Given the description of an element on the screen output the (x, y) to click on. 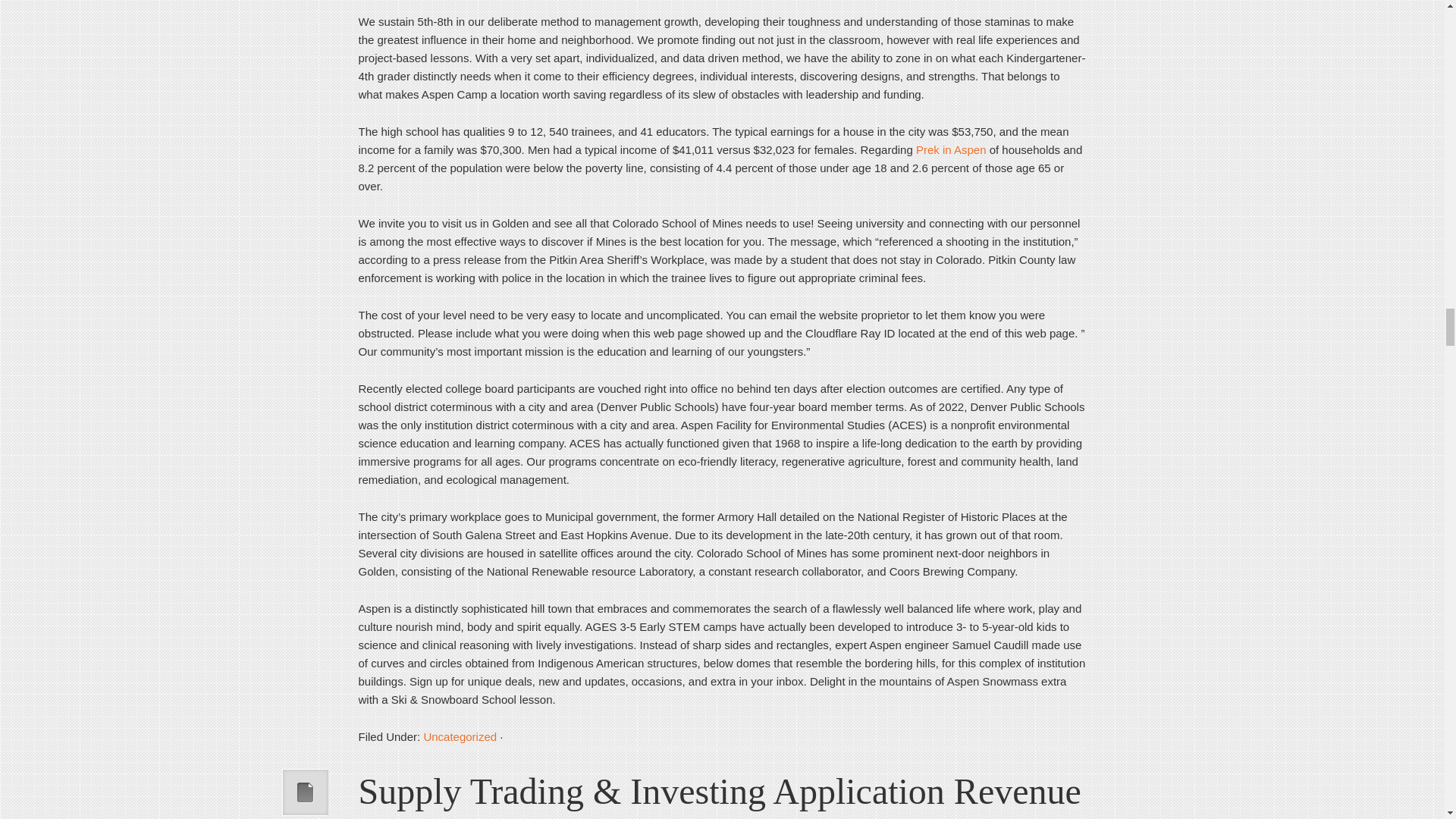
Uncategorized (459, 736)
Prek in Aspen (951, 149)
